Given the description of an element on the screen output the (x, y) to click on. 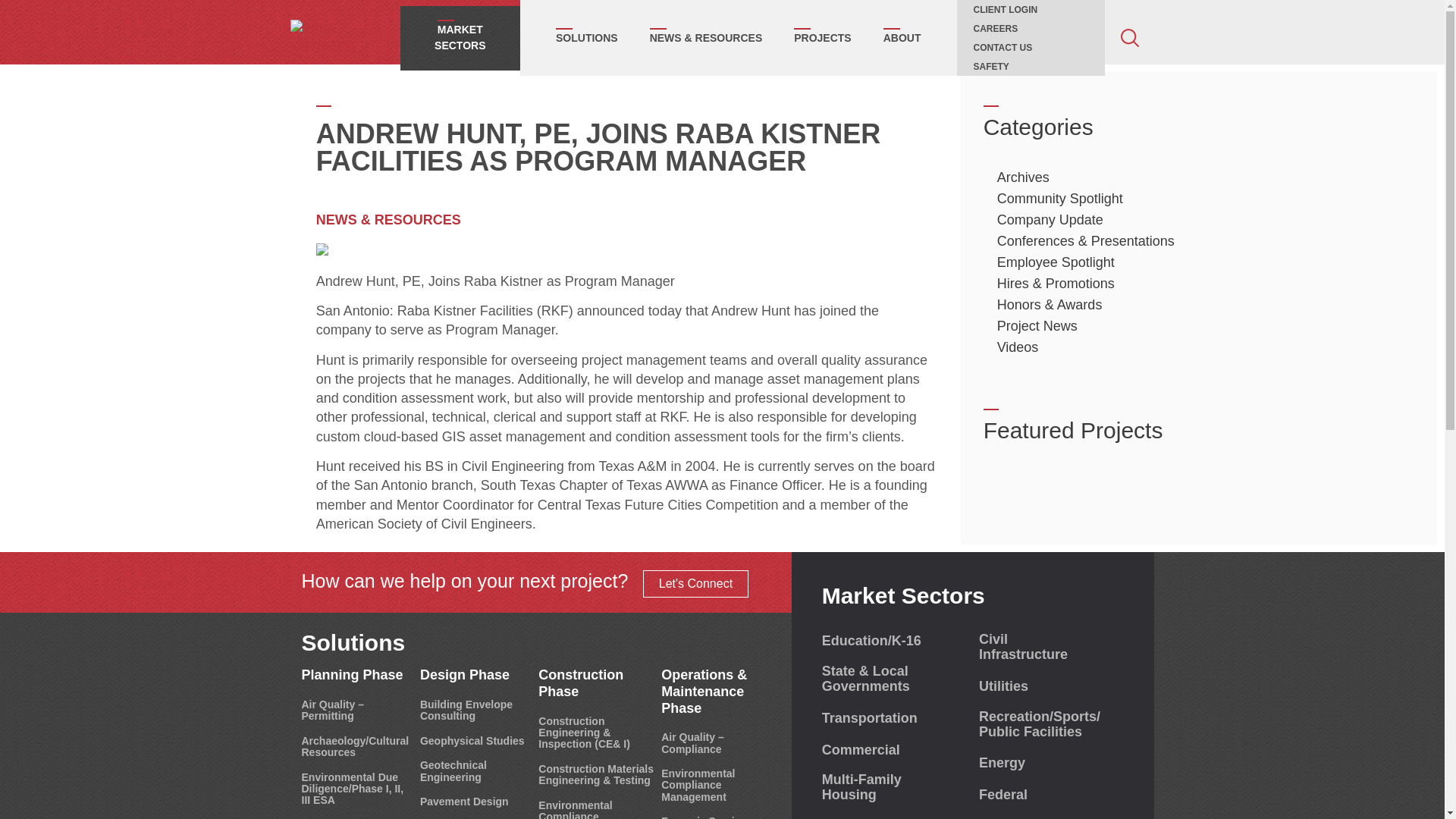
SOLUTIONS (586, 37)
